Given the description of an element on the screen output the (x, y) to click on. 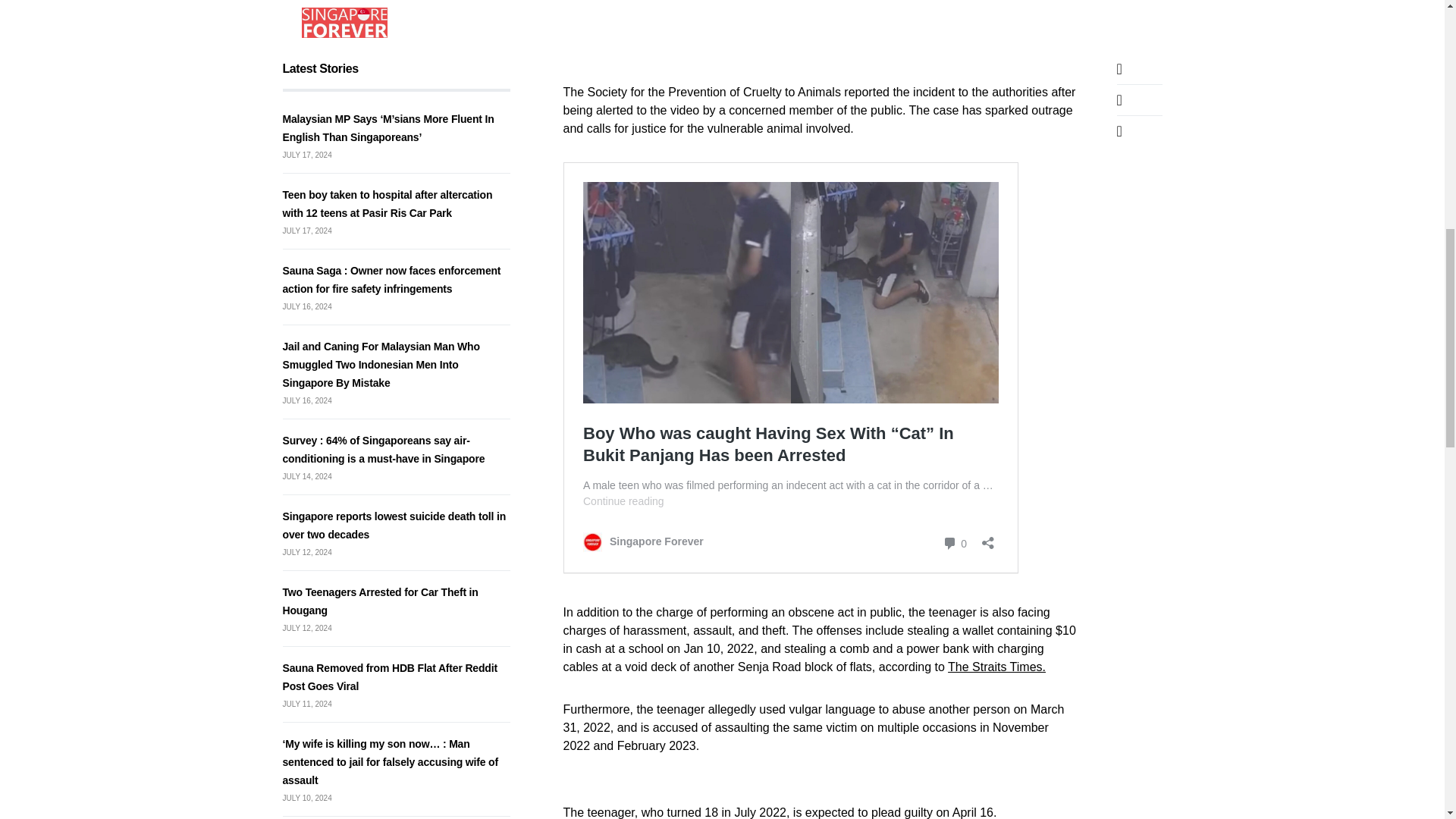
56-second clip (937, 6)
The Straits Times. (996, 666)
